Given the description of an element on the screen output the (x, y) to click on. 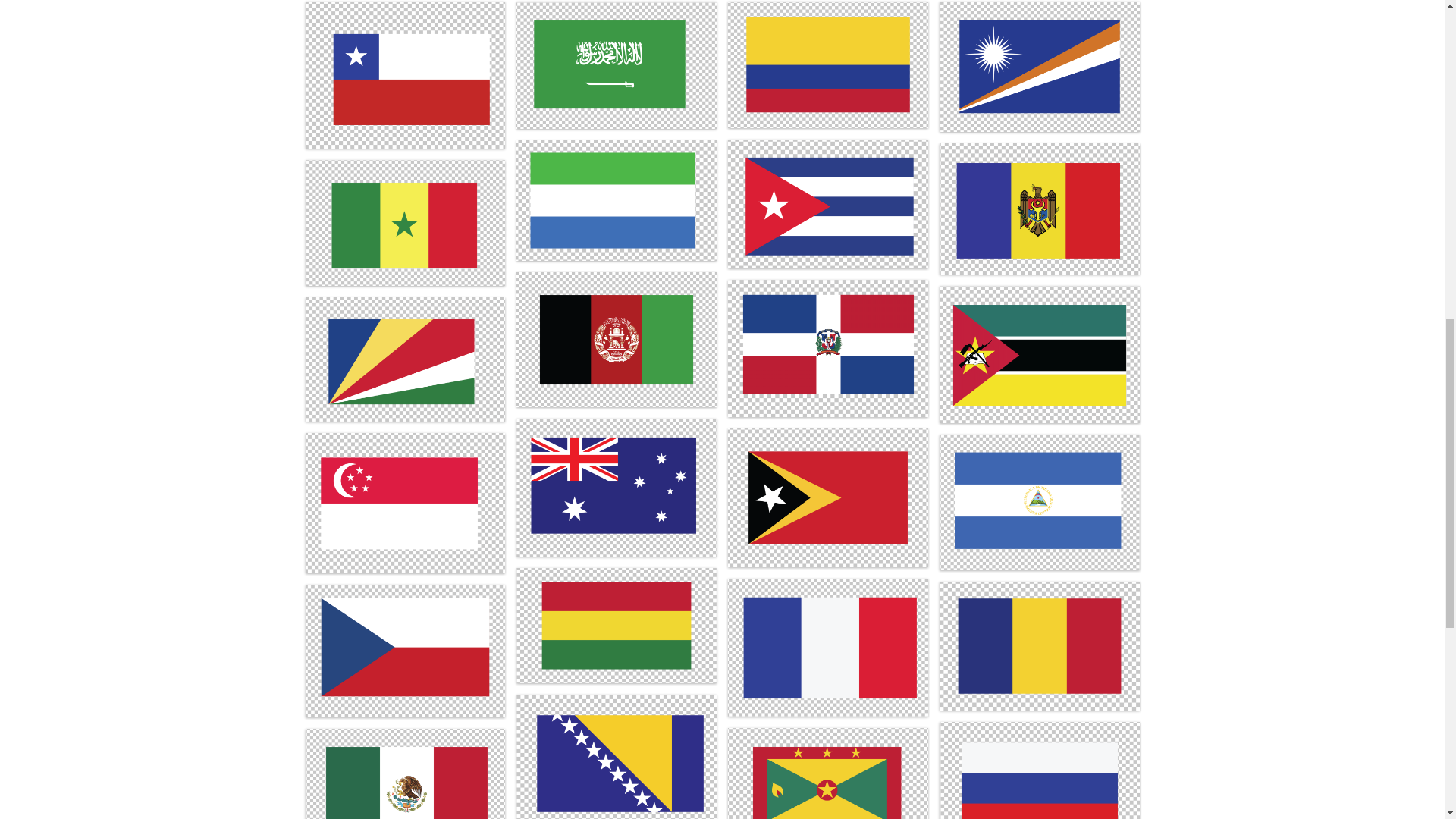
Flag of the Czech Republic PNG Image (404, 650)
Flag of Chile PNG Image (404, 75)
Flag of Saudi Arabia PNG Image (616, 64)
Flag of Mexico PNG Image (404, 773)
Flag of Bosnia and Herzegovina PNG image (616, 756)
Flag of Senegal PNG Image (404, 222)
Flag of Cuba PNG Image (828, 203)
Flag of Seychelles PNG Image (404, 359)
Flag of Afghanistan PNG Image (616, 339)
Flag of Colombia PNG Image (828, 64)
Singapore Flag PNG Image (404, 503)
Bolivian flag PNG image (616, 625)
Flag of East Timor PNG Image (828, 497)
Flag of Sierra Leone PNG Image (616, 200)
Flag of the Dominican Republic PNG Image (828, 348)
